Given the description of an element on the screen output the (x, y) to click on. 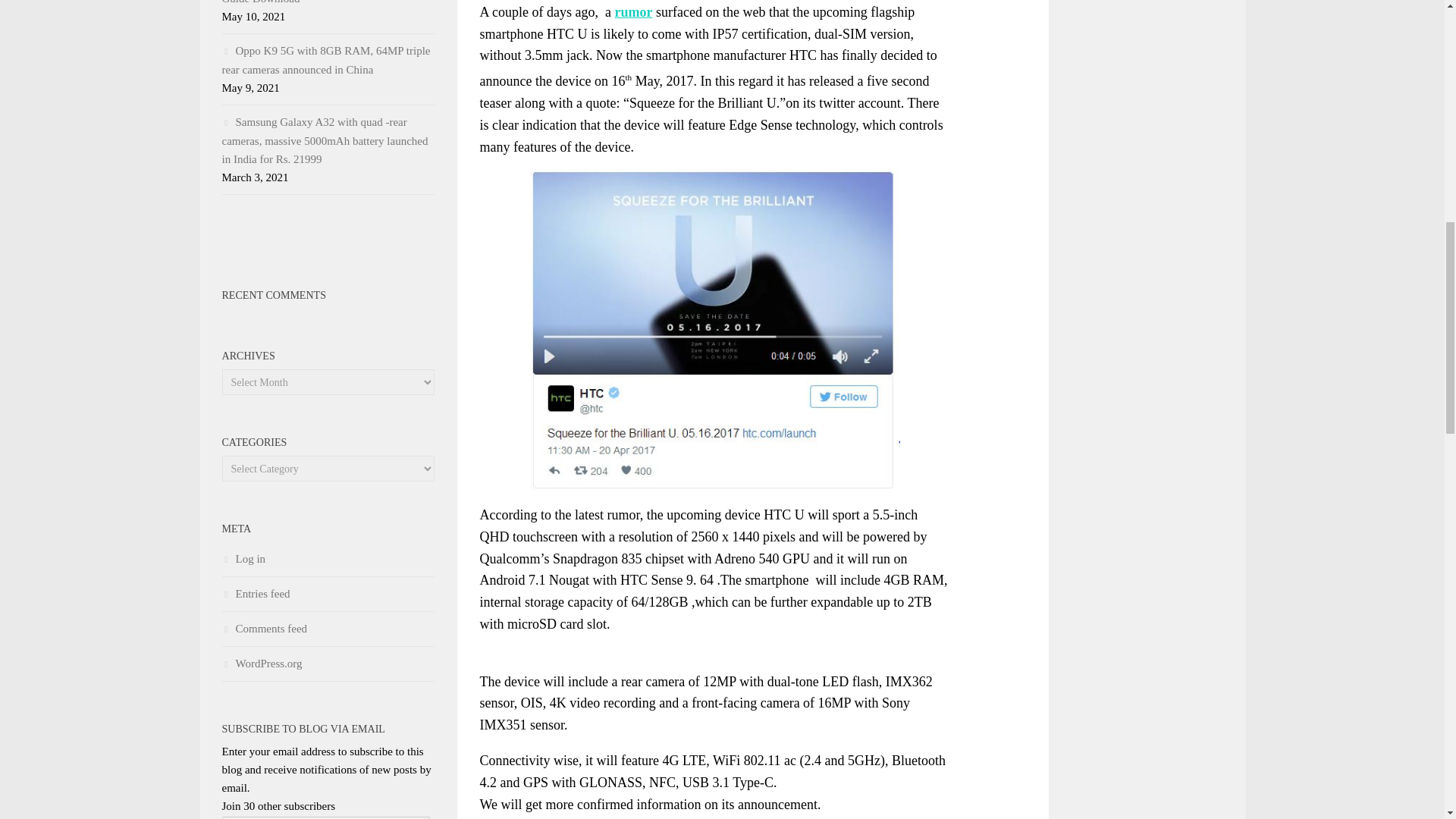
Samsung Galaxy A72 User Manual PDF Guide Download (320, 2)
rumor (633, 11)
